Given the description of an element on the screen output the (x, y) to click on. 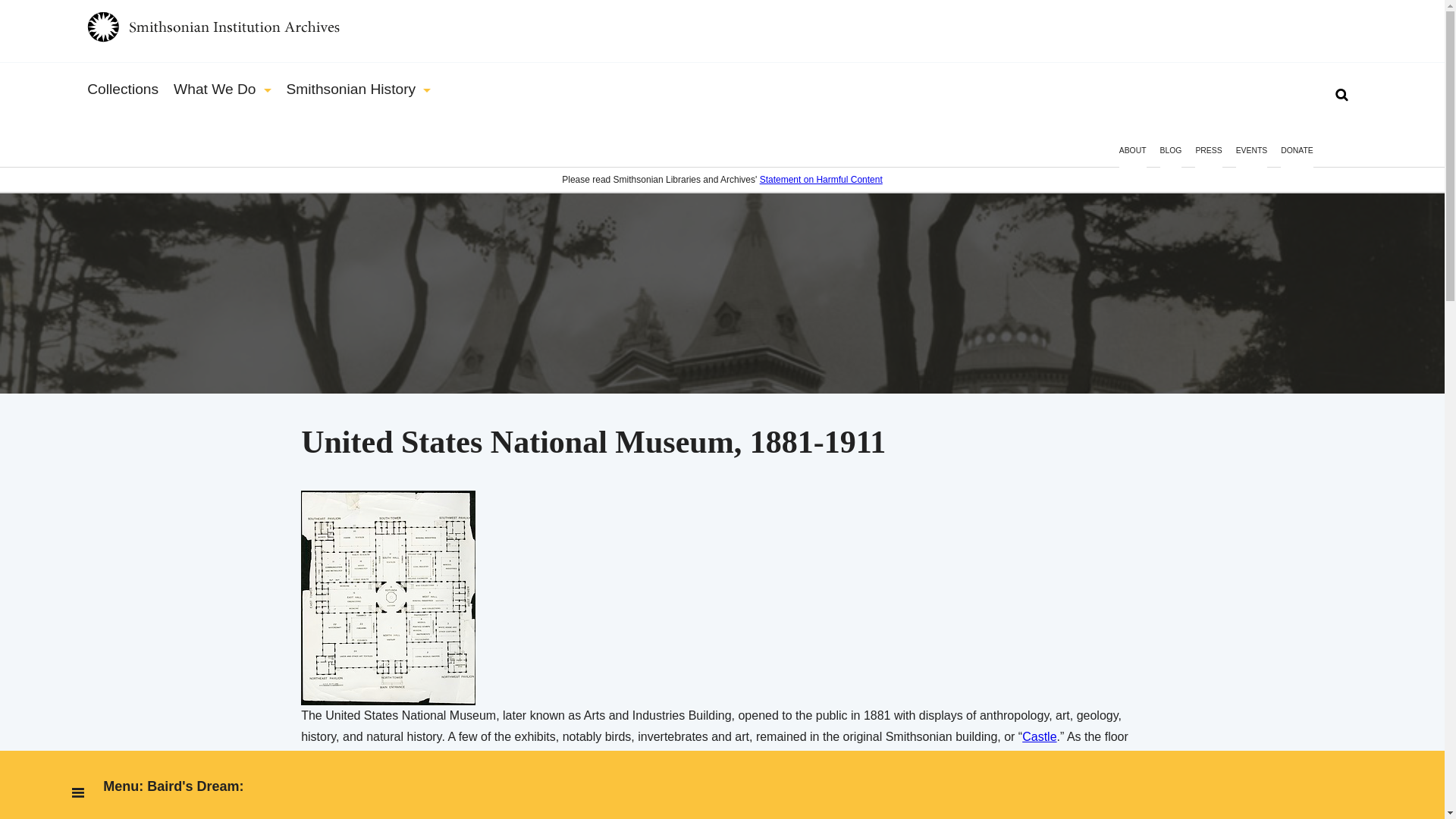
SCROLL TO EXPLORE THIS TOPIC (721, 165)
What We Do (221, 90)
PRESS (1208, 157)
Smithsonian History (358, 90)
Collections (122, 90)
ABOUT (1133, 157)
Collections (122, 90)
Home (721, 30)
Search (41, 18)
